Given the description of an element on the screen output the (x, y) to click on. 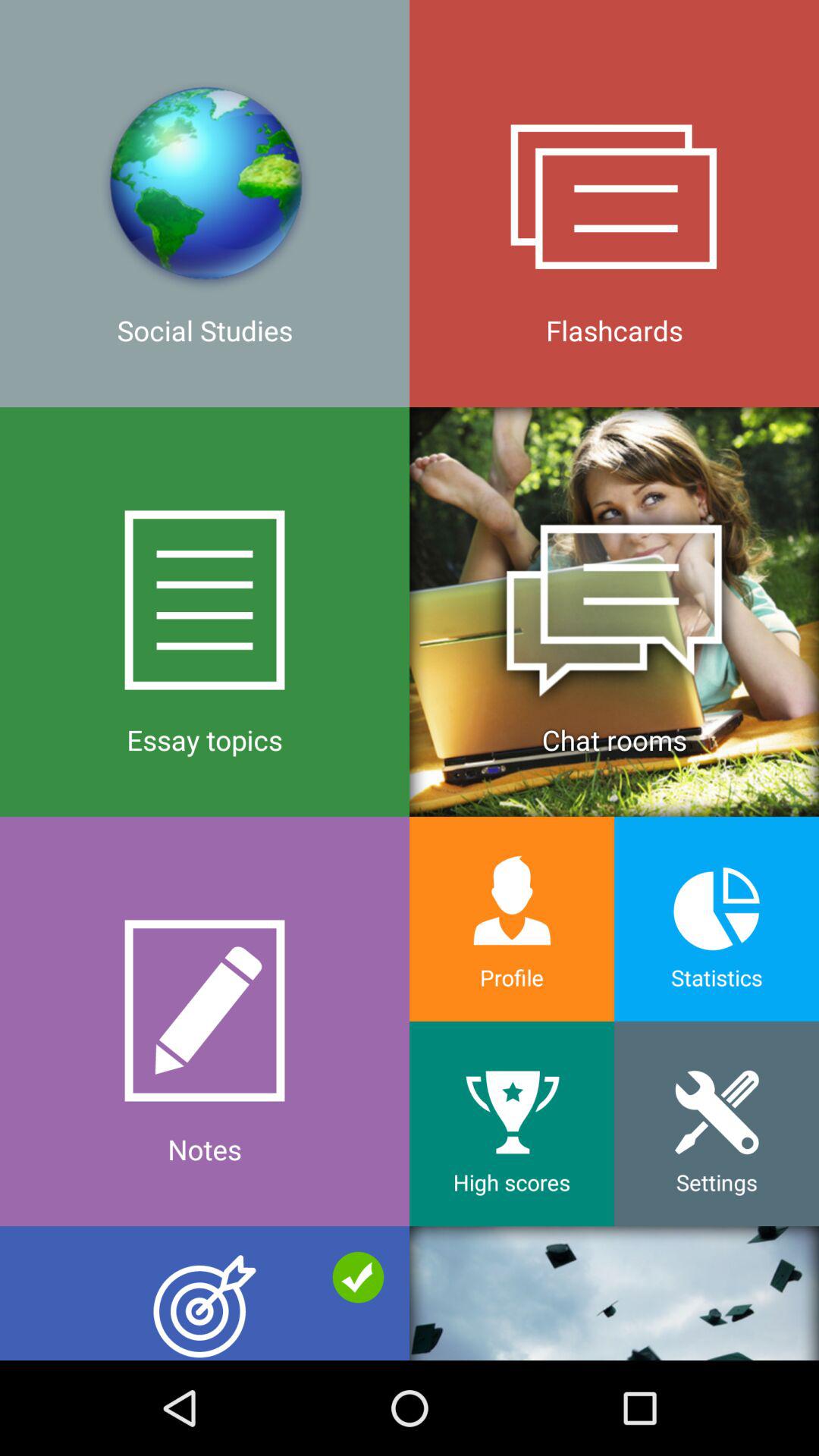
press the icon below the profile item (511, 1123)
